Given the description of an element on the screen output the (x, y) to click on. 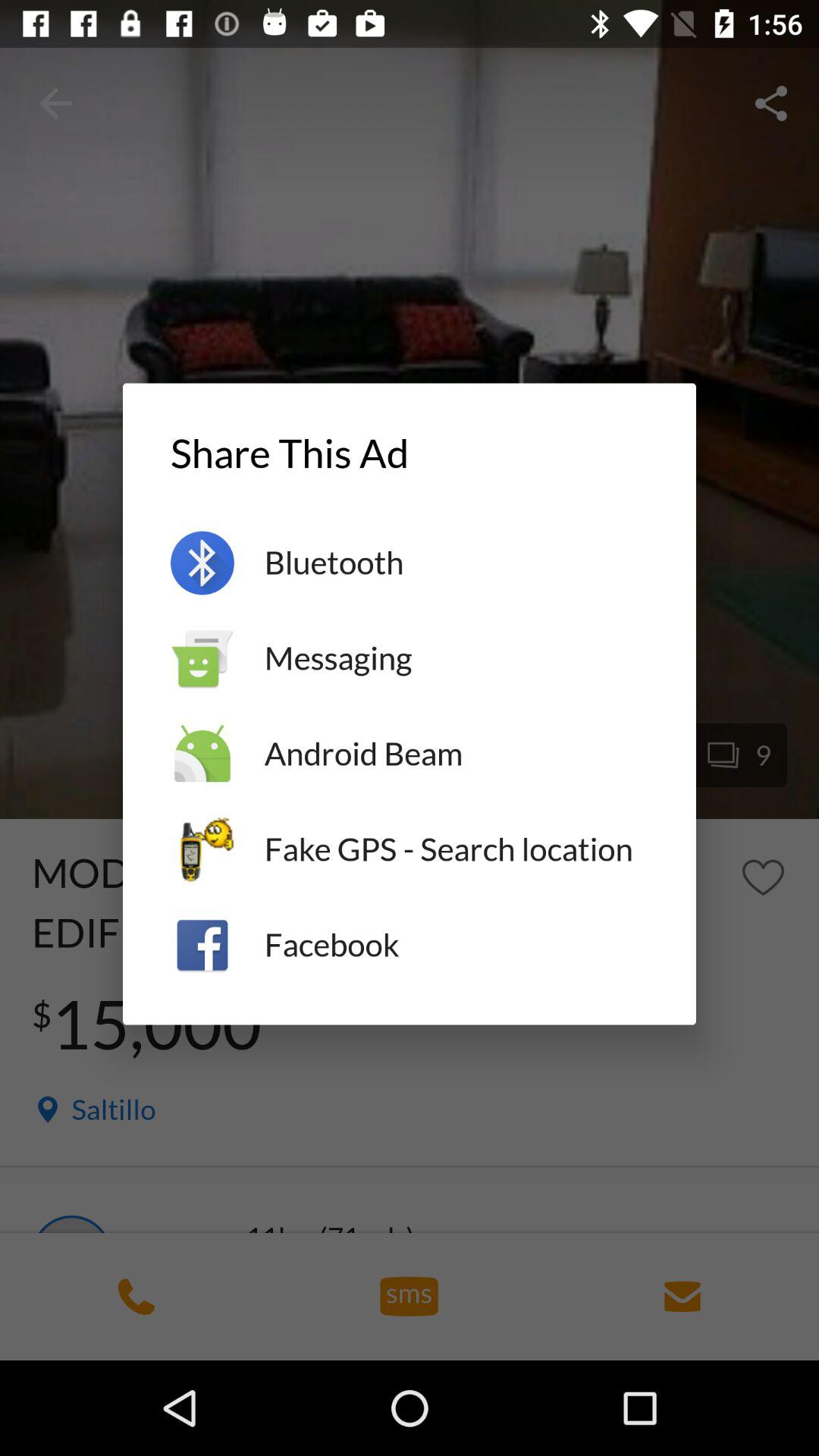
turn off the item below bluetooth item (456, 658)
